Given the description of an element on the screen output the (x, y) to click on. 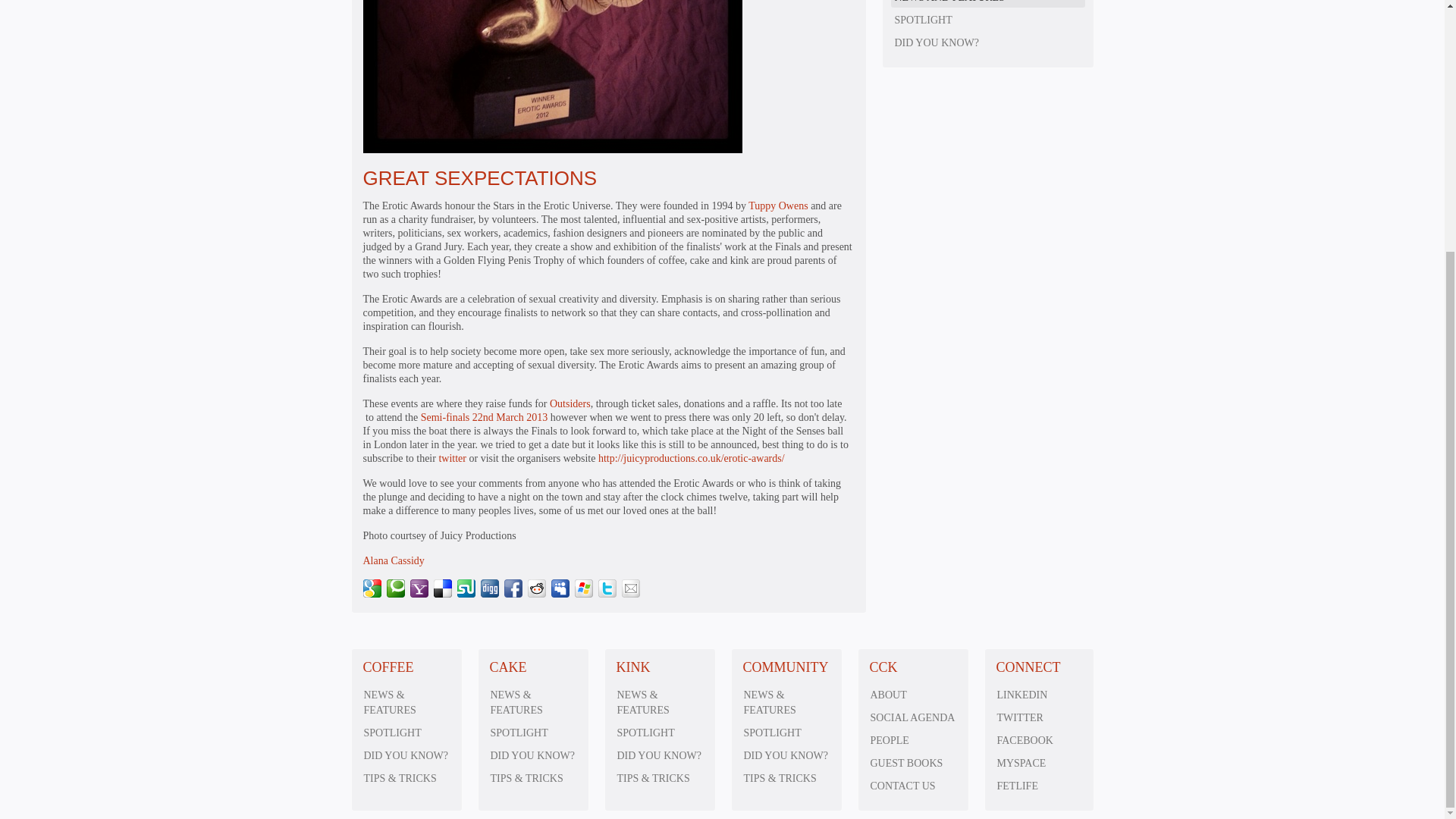
GREAT SEXPECTATIONS (479, 178)
Discover more about the work of Outsiders (570, 403)
Add this Page to Facebook (512, 588)
Night of the senses twitter link (451, 458)
Alana Cassidy (392, 560)
Add this Page to Technorati (395, 588)
Add this Page to Delicious (442, 588)
More information on Tuppy Owens (779, 205)
Add this Page to Reddit (536, 588)
Recommend this Page (630, 588)
